Given the description of an element on the screen output the (x, y) to click on. 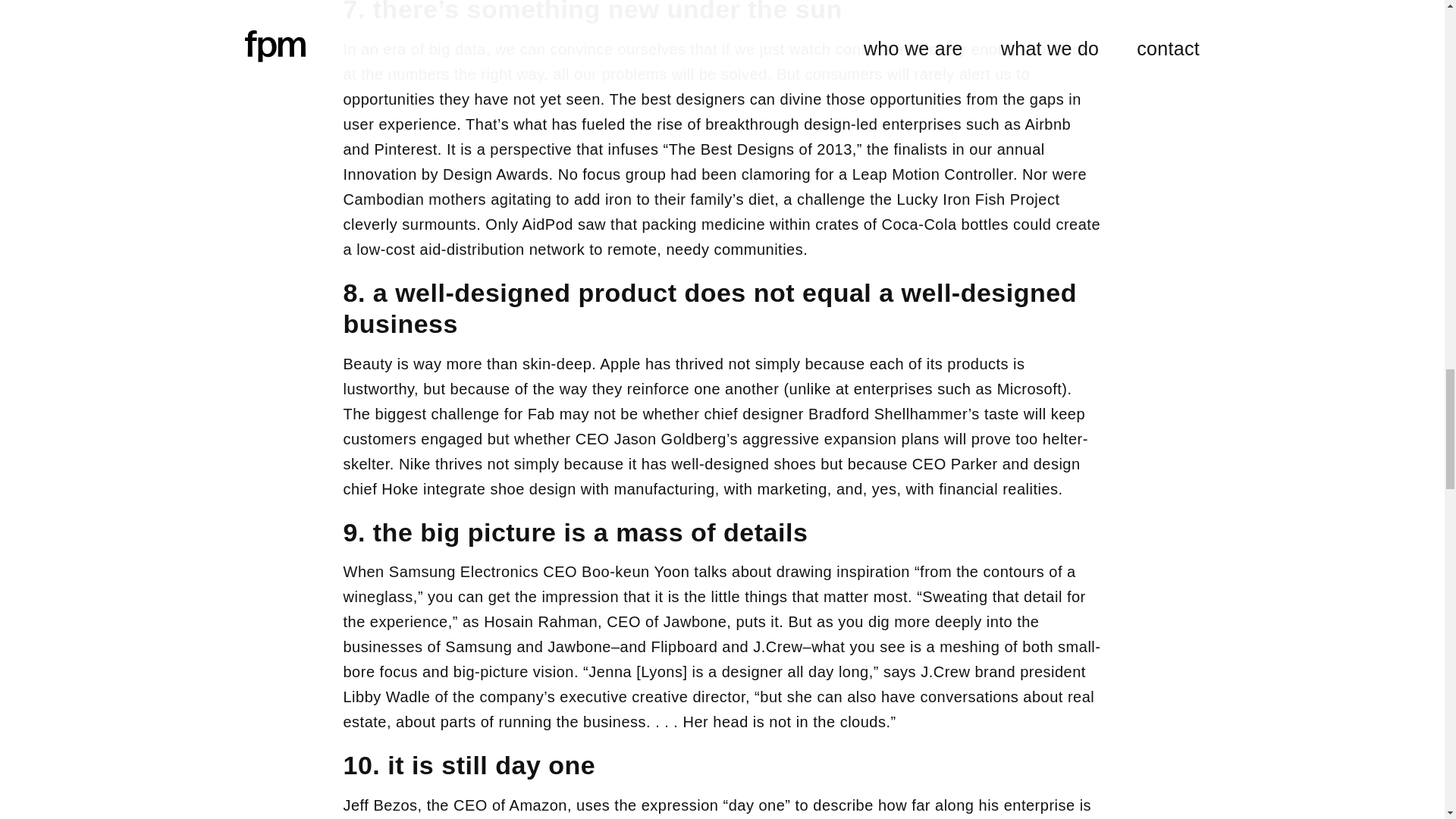
Amazon (538, 805)
J.Crew brand president Libby Wadle (713, 684)
J.Crew (777, 646)
Jeff Bezos (379, 805)
Microsoft (1029, 388)
